Given the description of an element on the screen output the (x, y) to click on. 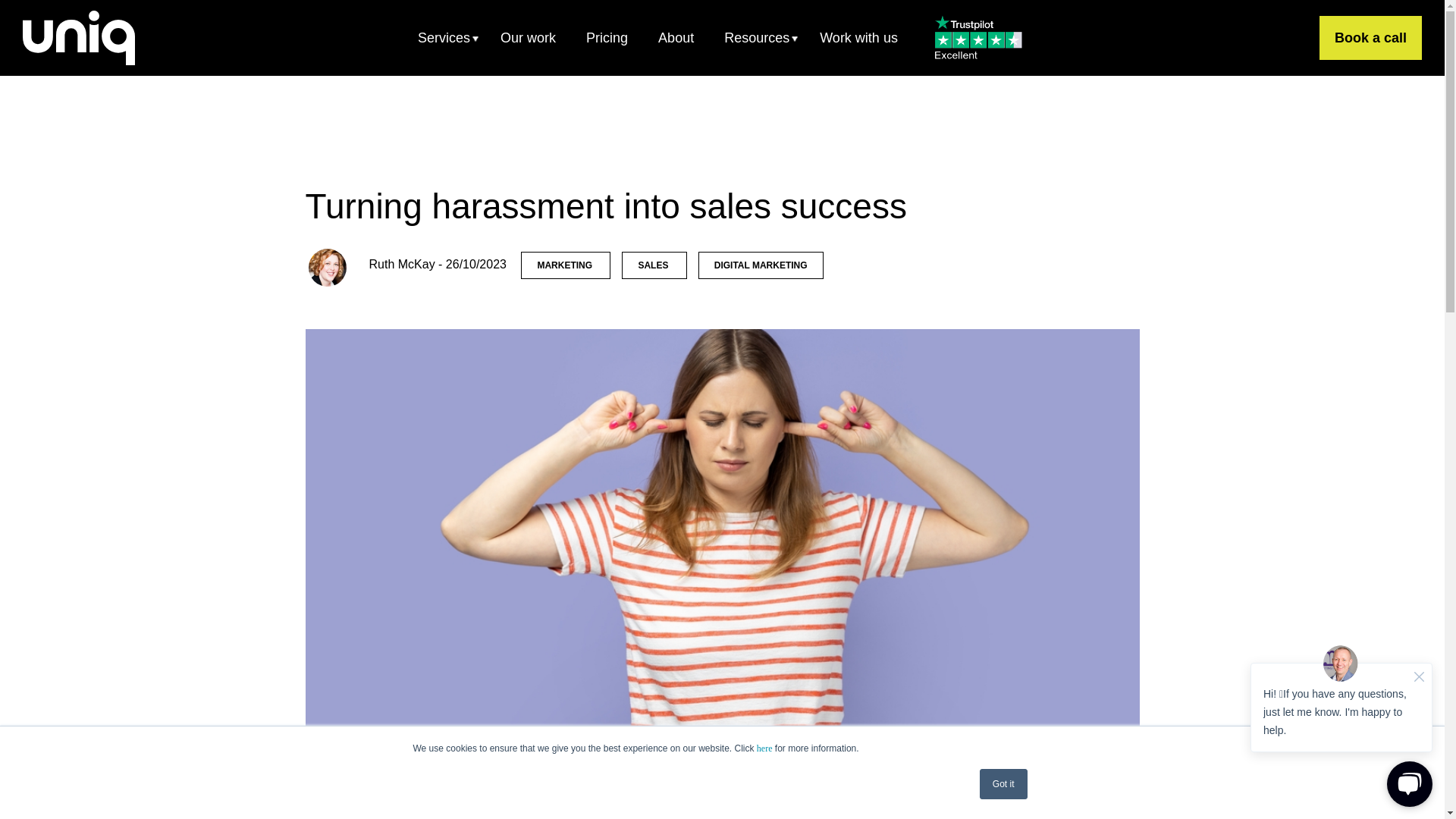
here (765, 747)
Our work (527, 37)
Work with us (858, 37)
Got it (1003, 784)
Ruth McKay (400, 264)
SALES (653, 265)
About (676, 37)
uniq-sales-and-marketing (79, 37)
Resources (757, 37)
MARKETING (565, 265)
Book a call (1370, 37)
DIGITAL MARKETING (761, 265)
Pricing (606, 37)
Services (443, 37)
